Given the description of an element on the screen output the (x, y) to click on. 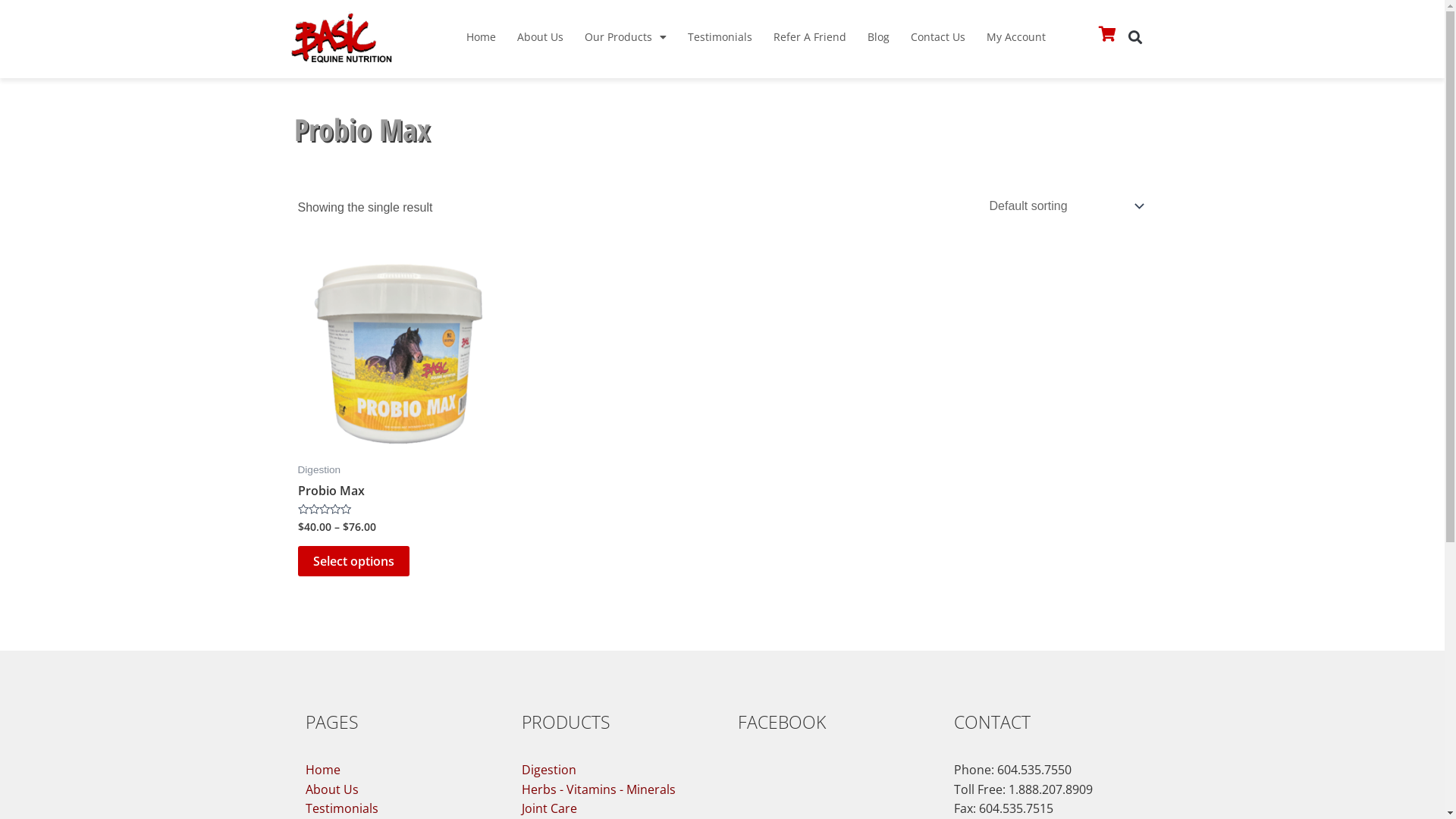
Refer A Friend Element type: text (809, 36)
Home Element type: text (480, 36)
My Account Element type: text (1015, 36)
Select options Element type: text (352, 561)
Blog Element type: text (878, 36)
Herbs - Vitamins - Minerals Element type: text (614, 790)
Digestion Element type: text (614, 770)
About Us Element type: text (540, 36)
About Us Element type: text (397, 790)
Our Products Element type: text (625, 36)
Home Element type: text (397, 770)
Probio Max Element type: text (330, 493)
Contact Us Element type: text (937, 36)
Testimonials Element type: text (719, 36)
